Given the description of an element on the screen output the (x, y) to click on. 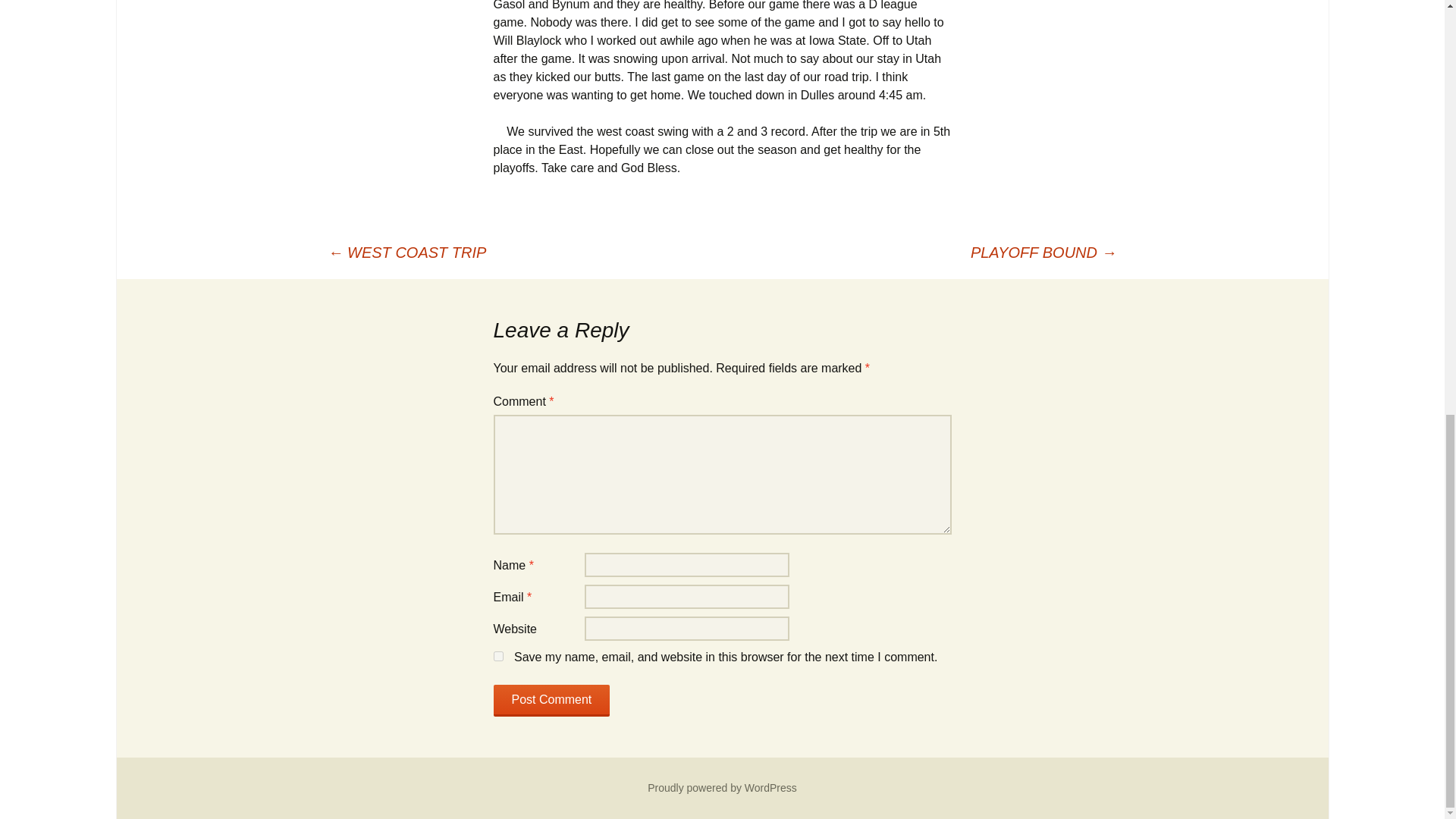
yes (497, 655)
Proudly powered by WordPress (721, 787)
Post Comment (551, 700)
Post Comment (551, 700)
